Given the description of an element on the screen output the (x, y) to click on. 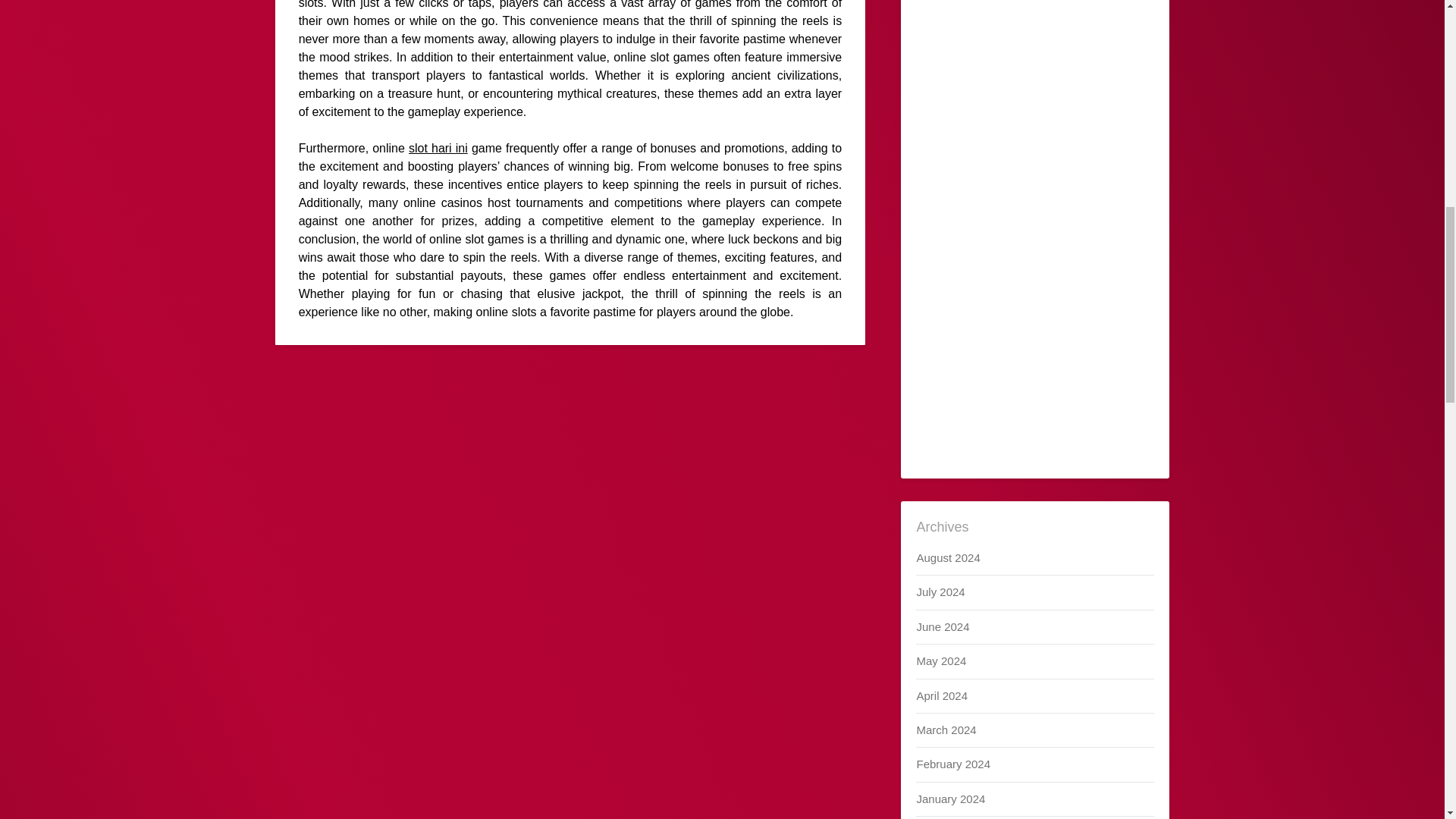
August 2024 (947, 557)
March 2024 (945, 729)
February 2024 (952, 763)
January 2024 (950, 798)
slot hari ini (438, 147)
April 2024 (941, 694)
July 2024 (939, 591)
June 2024 (942, 626)
May 2024 (940, 660)
